Given the description of an element on the screen output the (x, y) to click on. 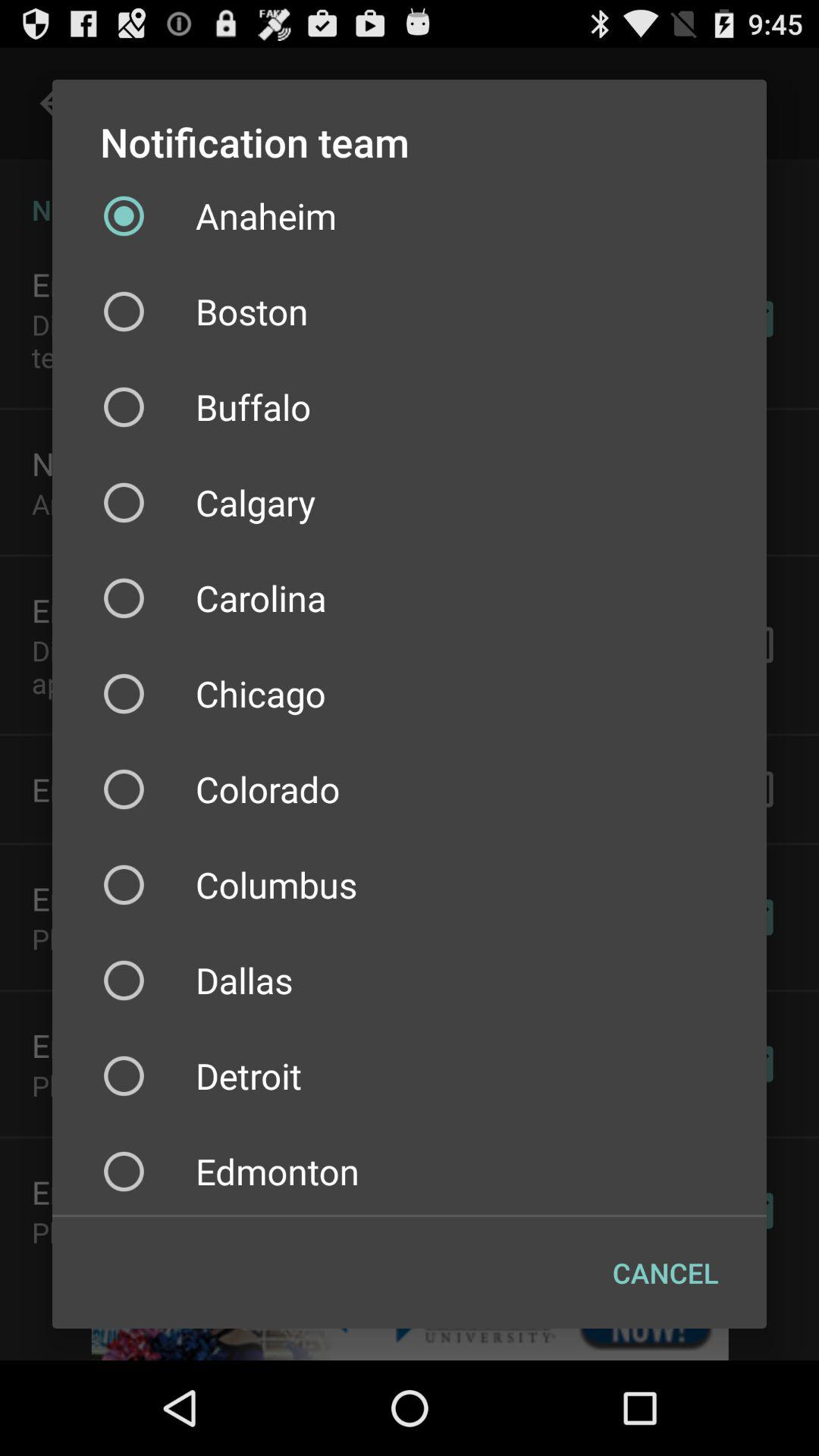
turn on the cancel at the bottom right corner (665, 1272)
